Given the description of an element on the screen output the (x, y) to click on. 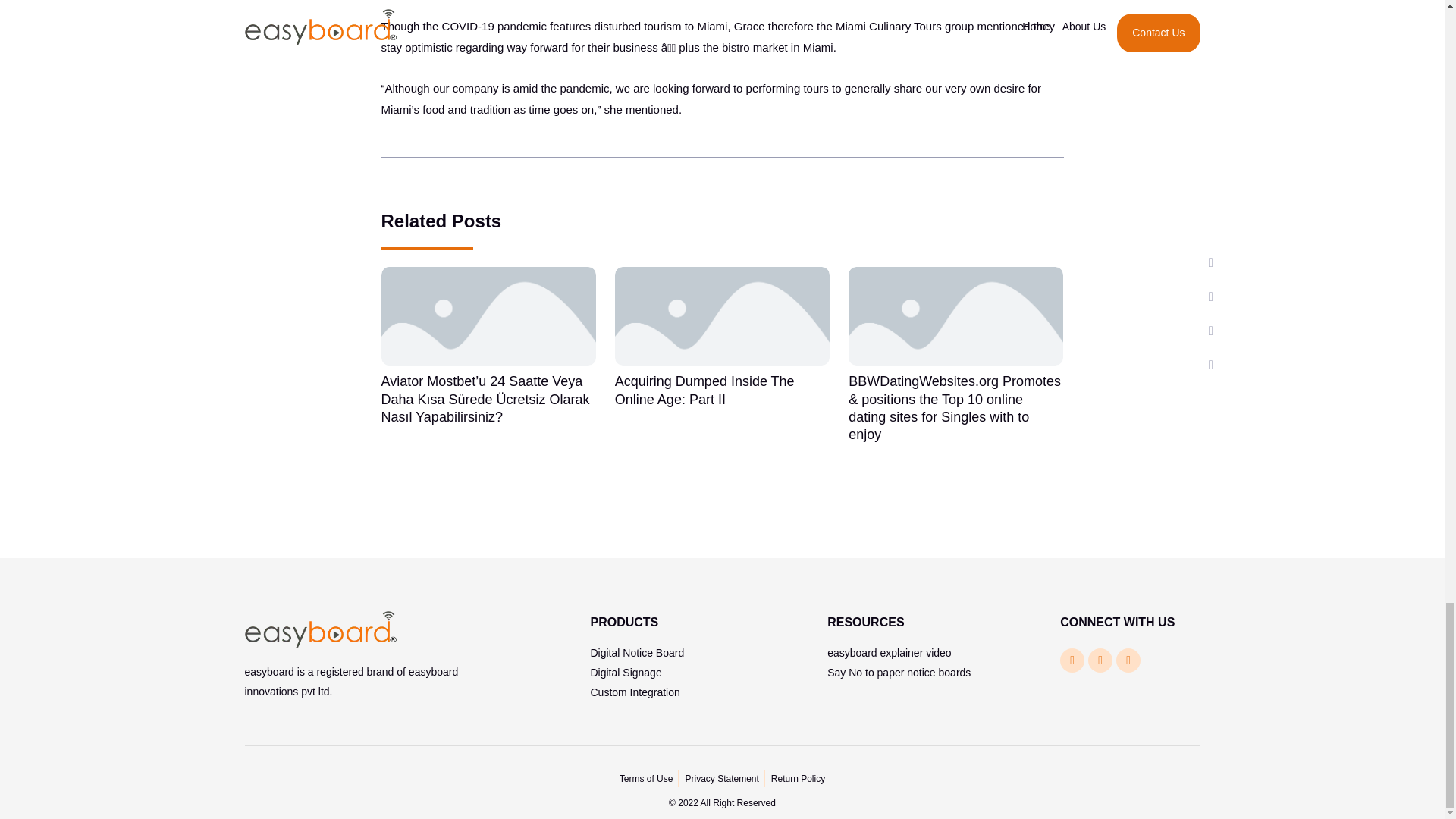
easyboard explainer video (888, 653)
Facebook (1071, 660)
Youtube (1099, 660)
Say No to paper notice boards (899, 673)
Acquiring Dumped Inside The Online Age: Part II (704, 389)
Linkedin (1128, 660)
